Given the description of an element on the screen output the (x, y) to click on. 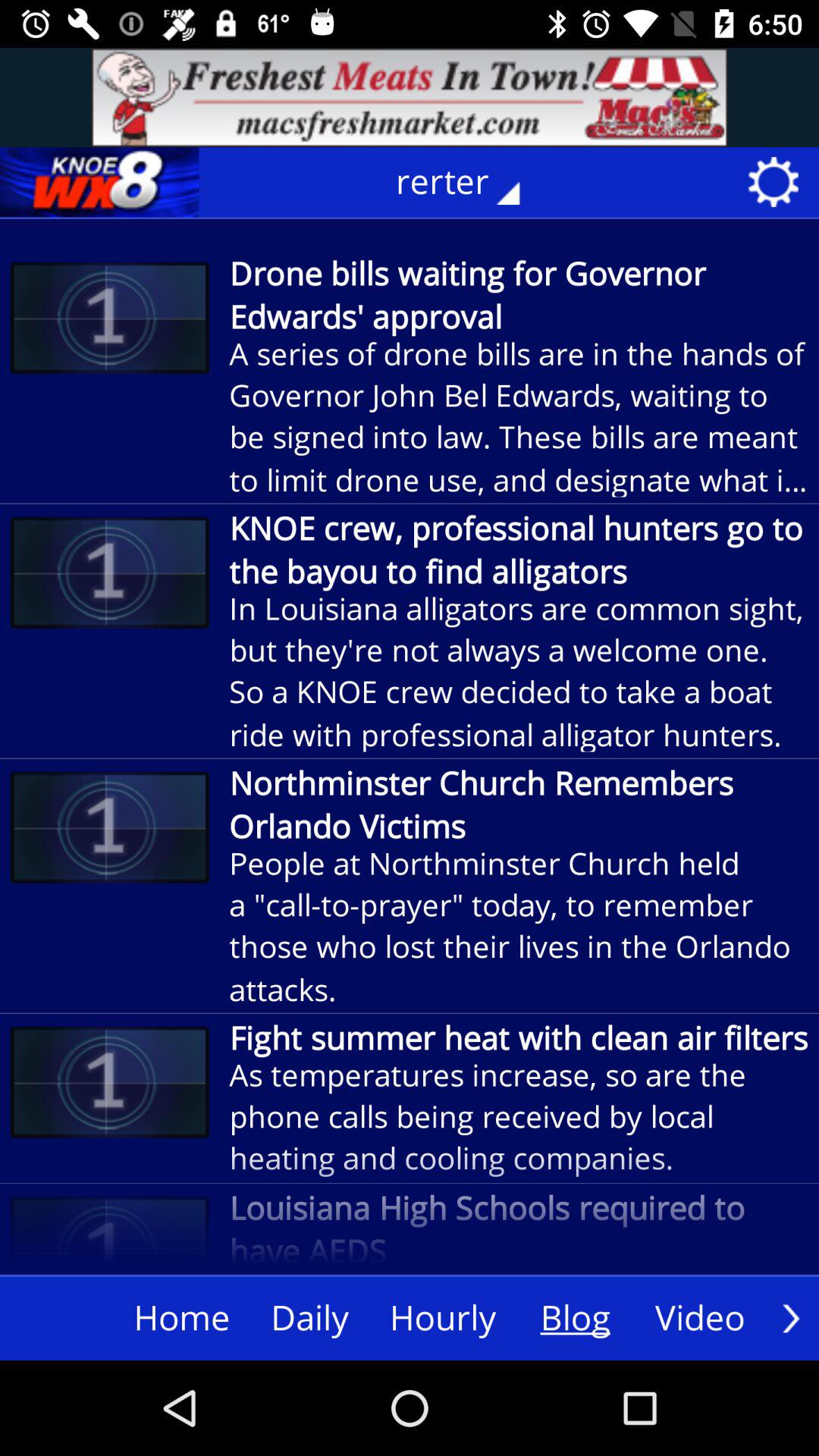
click to logo (99, 182)
